Given the description of an element on the screen output the (x, y) to click on. 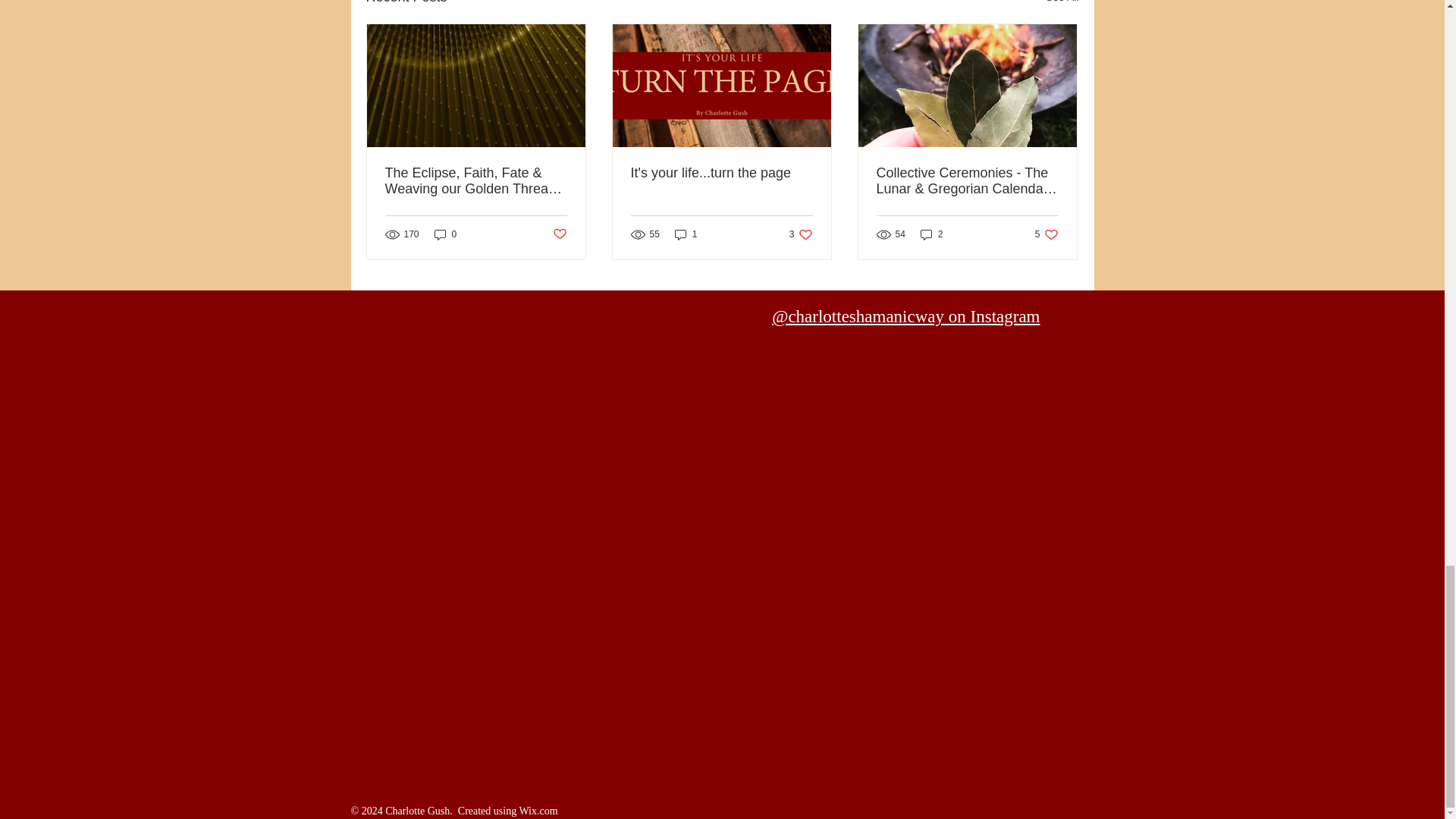
Post not marked as liked (558, 234)
2 (931, 234)
1 (685, 234)
It's your life...turn the page (1046, 234)
See All (721, 172)
0 (1061, 4)
